Given the description of an element on the screen output the (x, y) to click on. 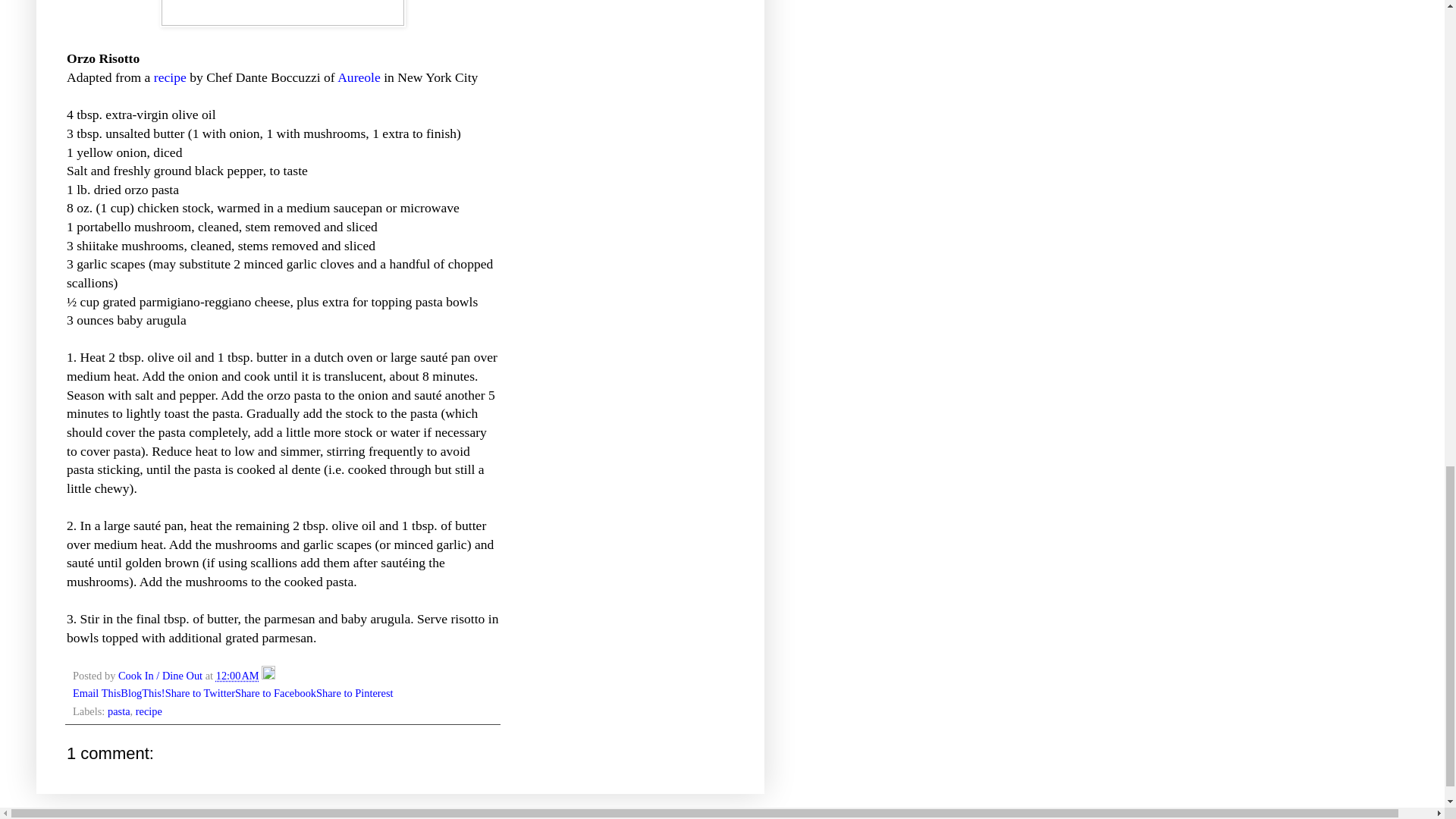
Email This (96, 693)
Share to Pinterest (354, 693)
Share to Pinterest (354, 693)
BlogThis! (142, 693)
BlogThis! (142, 693)
pasta (119, 711)
Email This (96, 693)
Share to Facebook (274, 693)
Edit Post (268, 675)
